Given the description of an element on the screen output the (x, y) to click on. 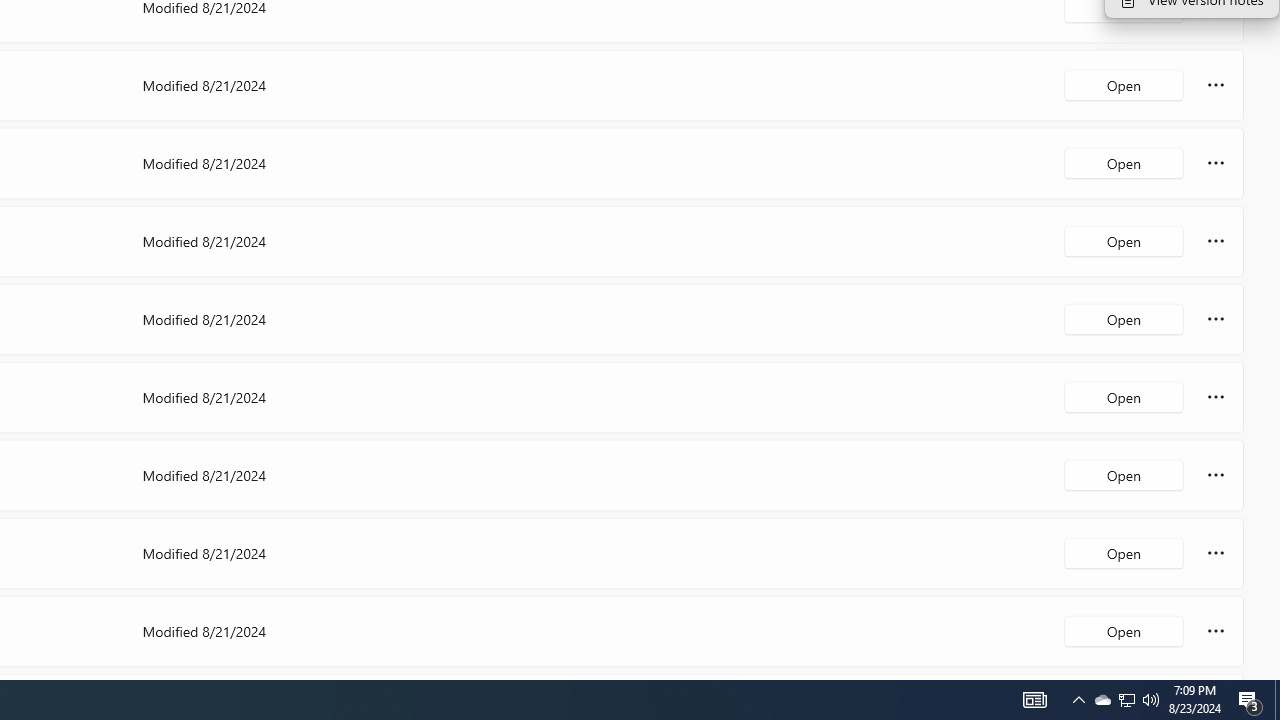
More options (1215, 630)
Open (1123, 630)
